Given the description of an element on the screen output the (x, y) to click on. 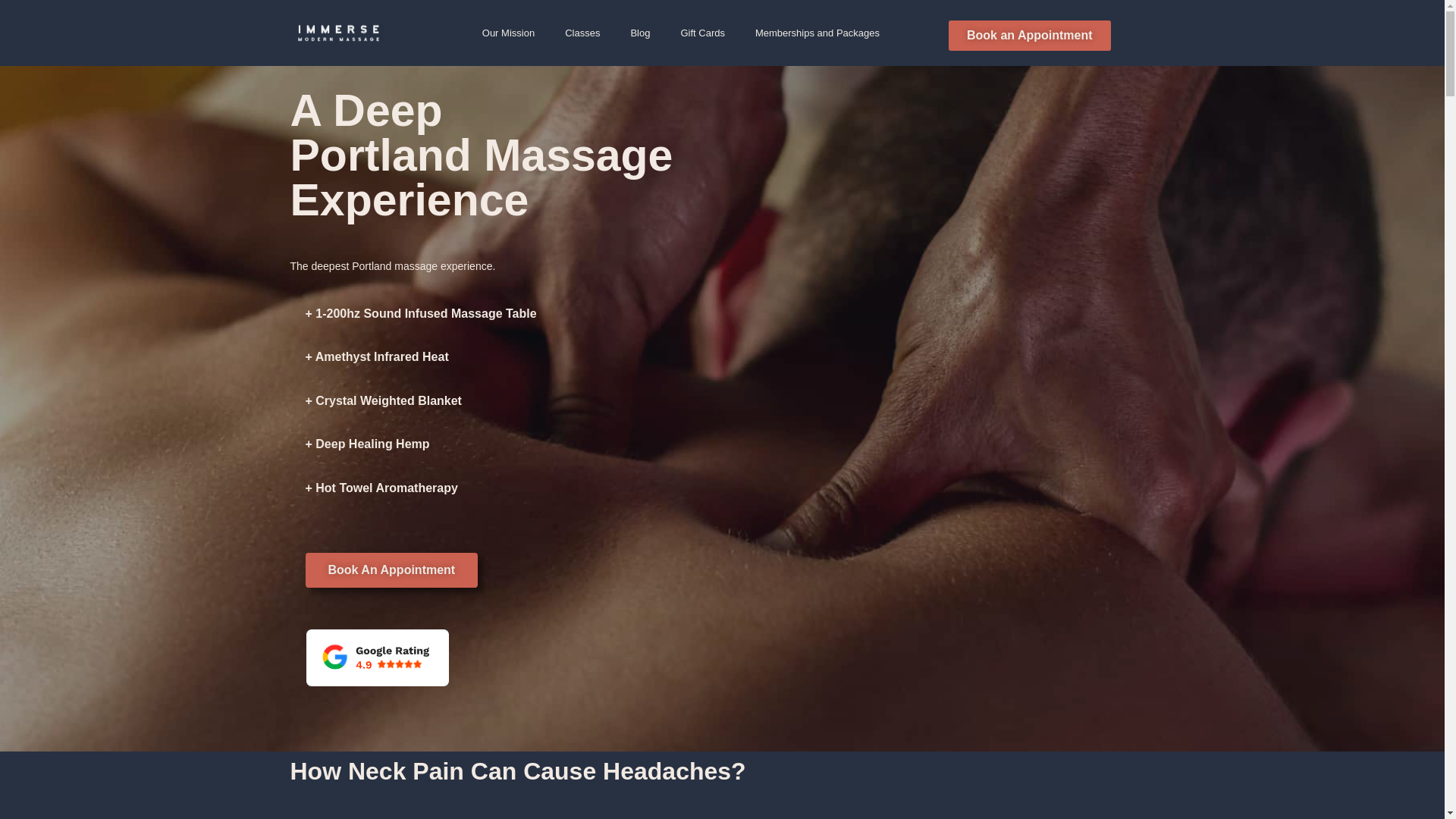
Classes (582, 32)
Gift Cards (702, 32)
Our Mission (508, 32)
Blog (639, 32)
Memberships and Packages (817, 32)
